Given the description of an element on the screen output the (x, y) to click on. 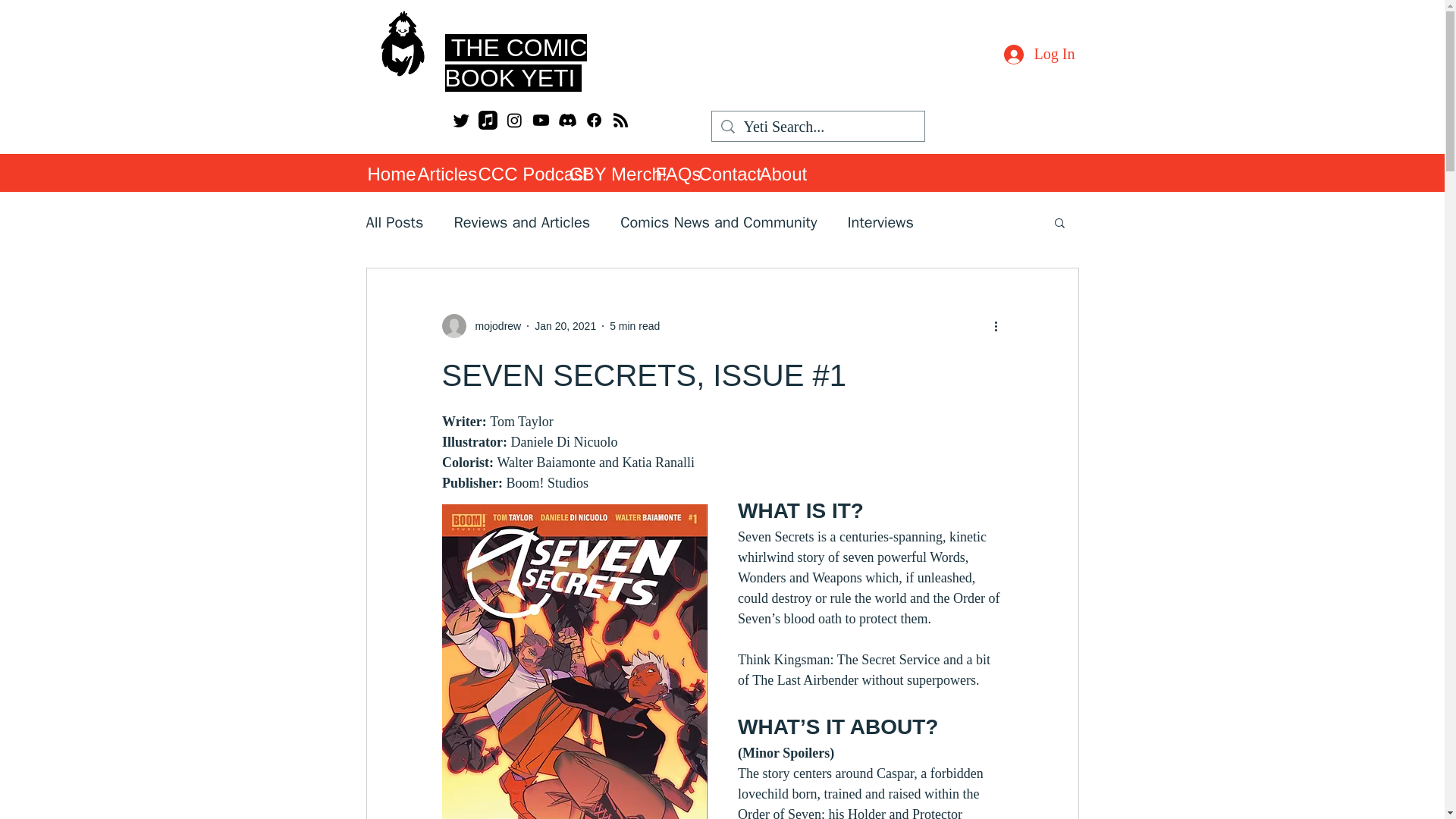
THE COMIC BOOK YETI  (515, 62)
mojodrew (493, 326)
Contact (721, 172)
CCC Podcast (515, 172)
mojodrew (481, 325)
About (777, 172)
Reviews and Articles (520, 222)
5 min read (634, 326)
Home (384, 172)
All Posts (394, 222)
Log In (1038, 53)
FAQs (668, 172)
Jan 20, 2021 (564, 326)
CBY Merch! (603, 172)
Interviews (879, 222)
